Given the description of an element on the screen output the (x, y) to click on. 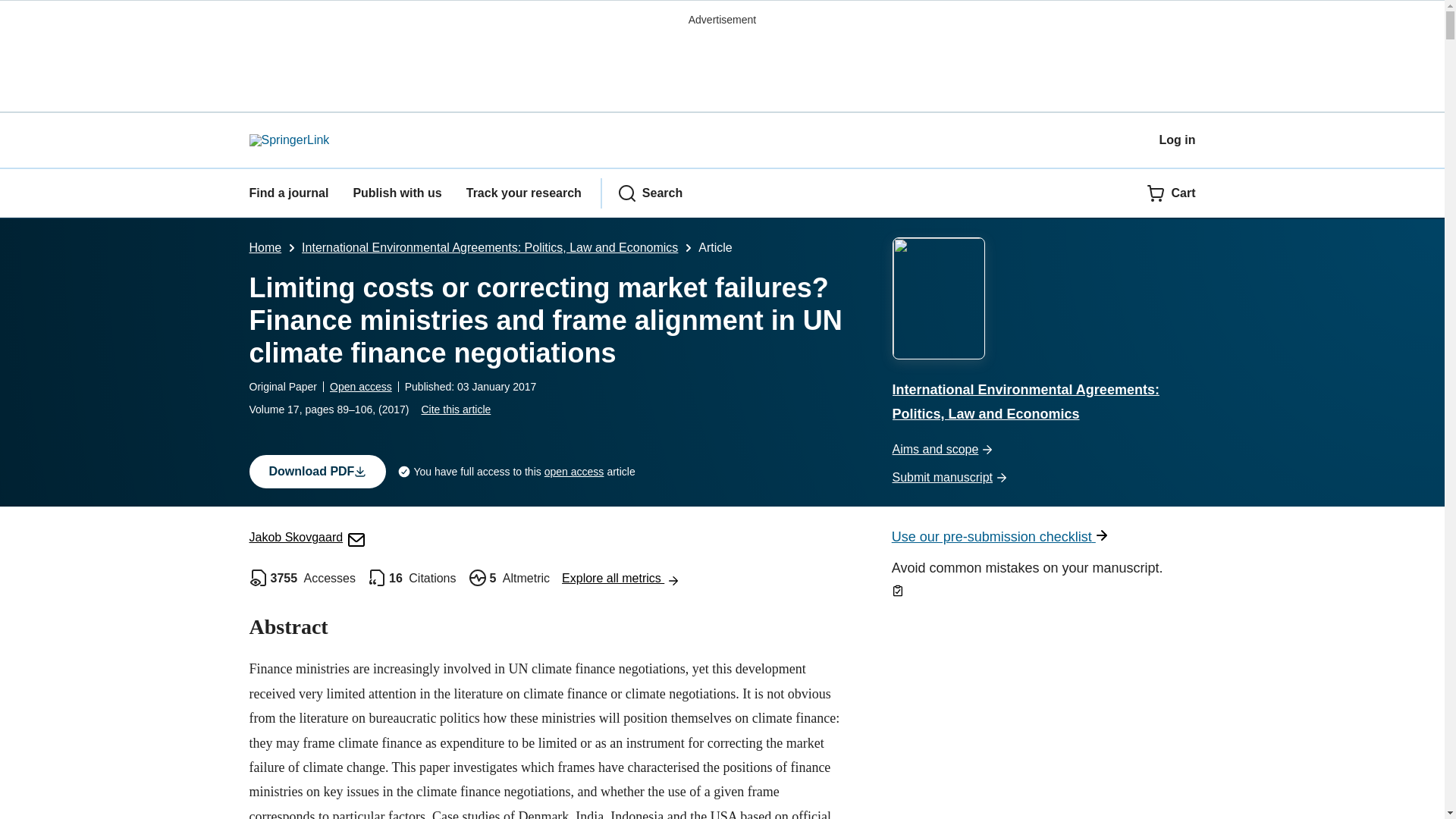
Cart (1170, 192)
Track your research (524, 192)
open access (574, 471)
Search (649, 192)
Publish with us (396, 192)
Find a journal (288, 192)
Explore all metrics (620, 577)
Home (264, 246)
Log in (1177, 139)
Aims and scope (1043, 449)
Cite this article (455, 409)
Jakob Skovgaard (306, 536)
Download PDF (316, 471)
